Given the description of an element on the screen output the (x, y) to click on. 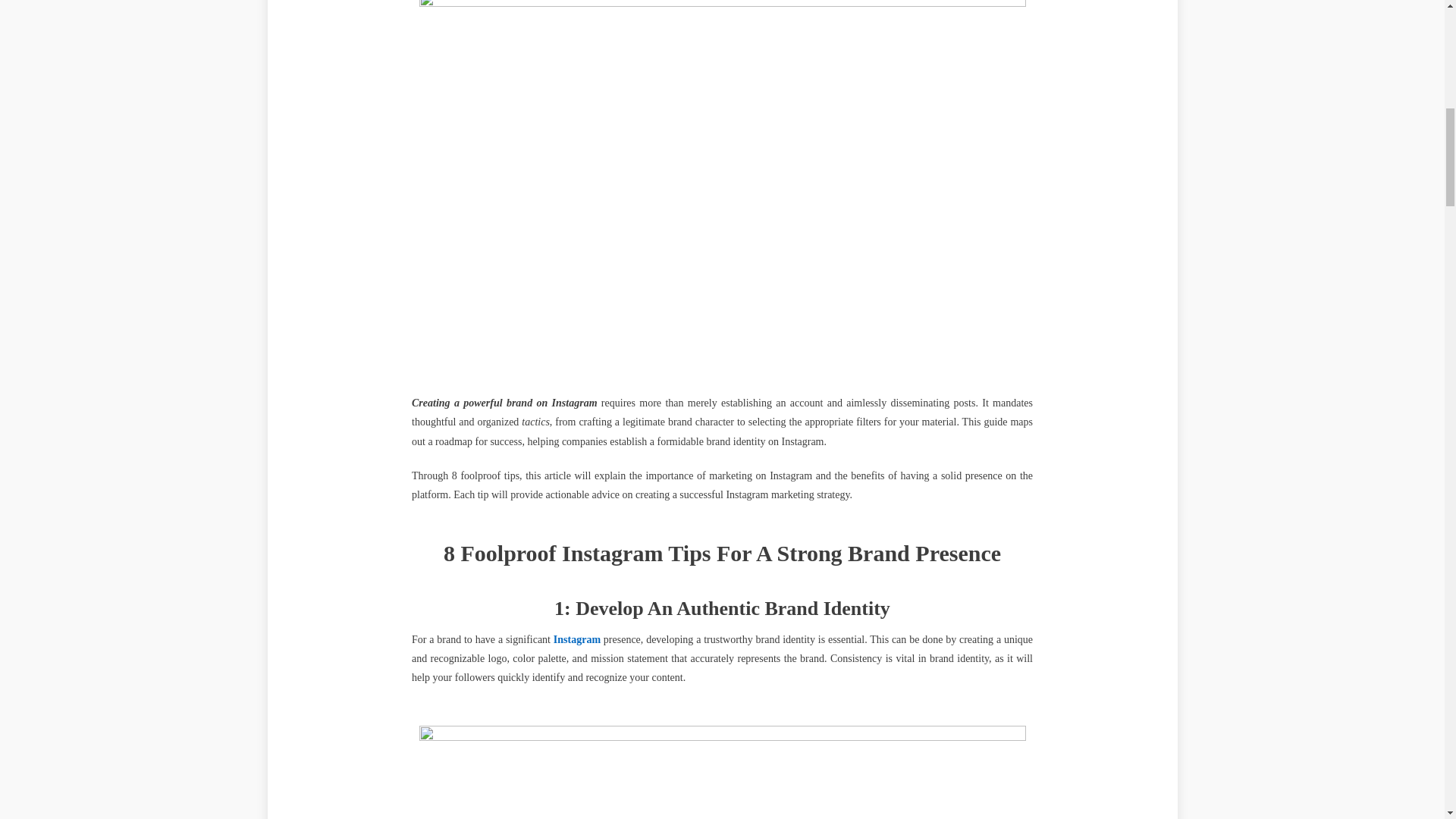
Instagram (576, 639)
